Given the description of an element on the screen output the (x, y) to click on. 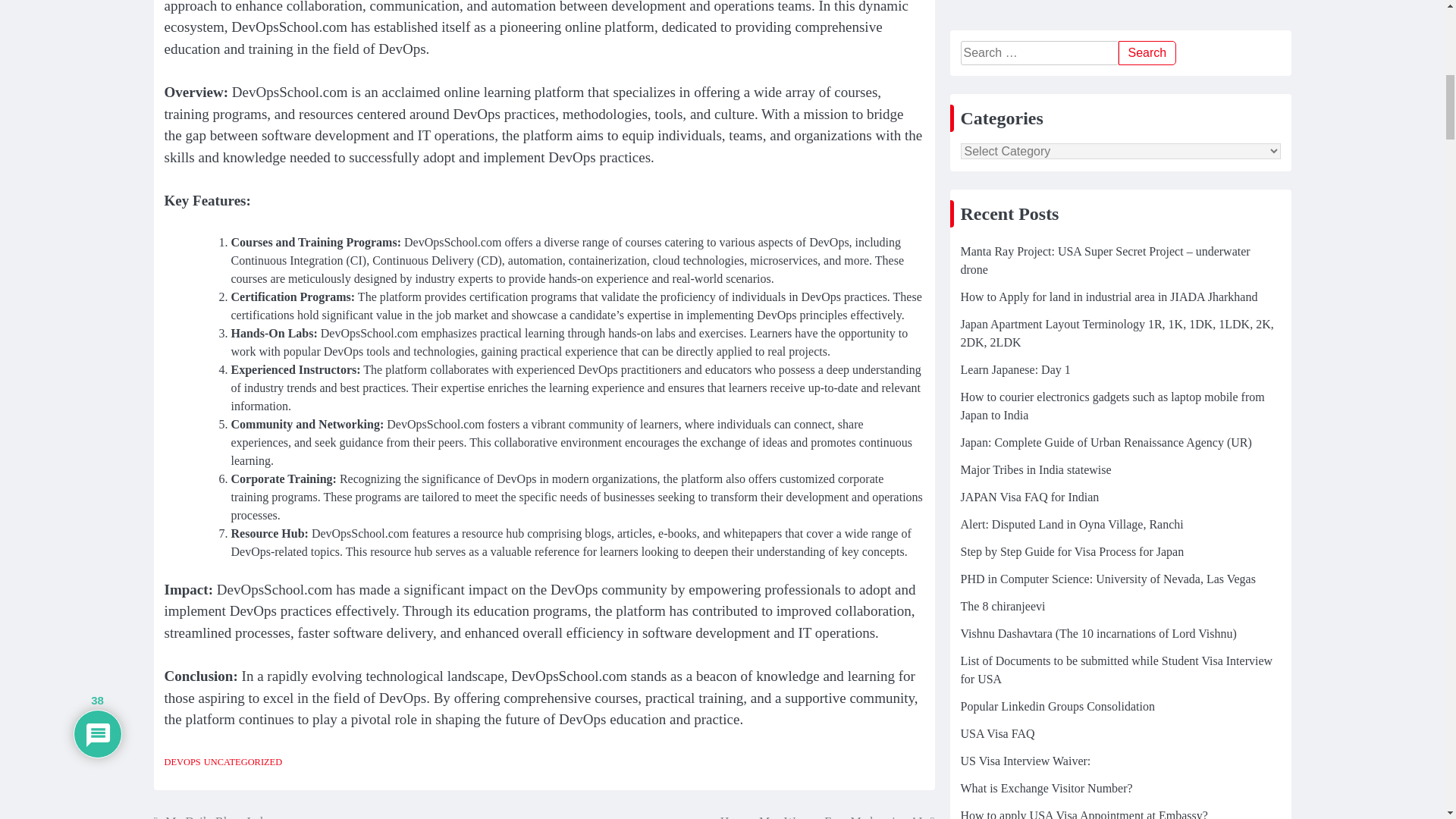
DEVOPS (181, 761)
Human Men Women Face Made using AI (827, 816)
UNCATEGORIZED (242, 761)
My Daily Blogs Index (212, 816)
